Given the description of an element on the screen output the (x, y) to click on. 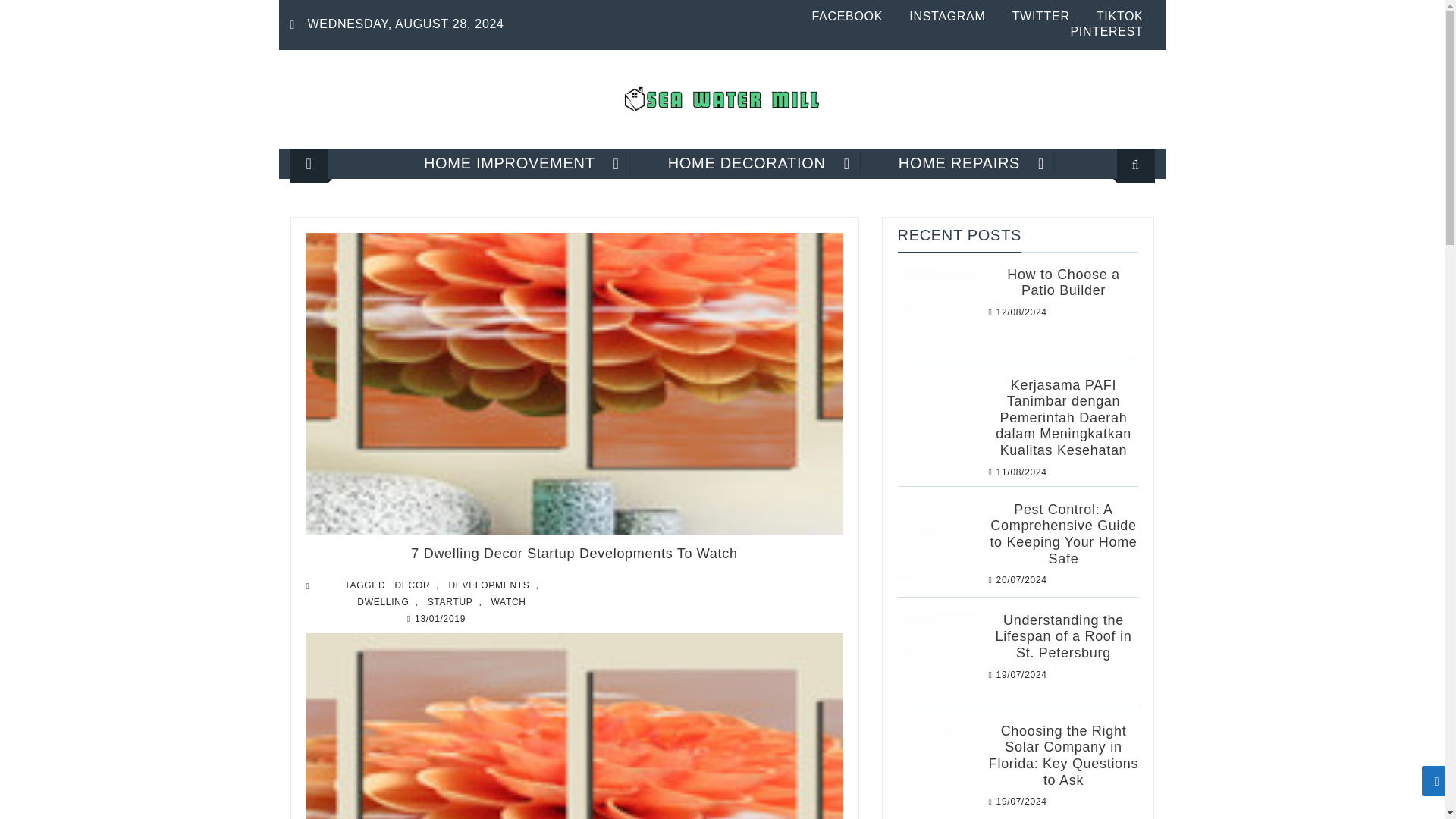
TIKTOK (1119, 15)
HOME IMPROVEMENT (510, 163)
WATCH (508, 601)
HOME DECORATION (746, 163)
DECOR (411, 585)
TWITTER (1040, 15)
How to Choose a Patio Builder (937, 306)
DWELLING (382, 601)
